Given the description of an element on the screen output the (x, y) to click on. 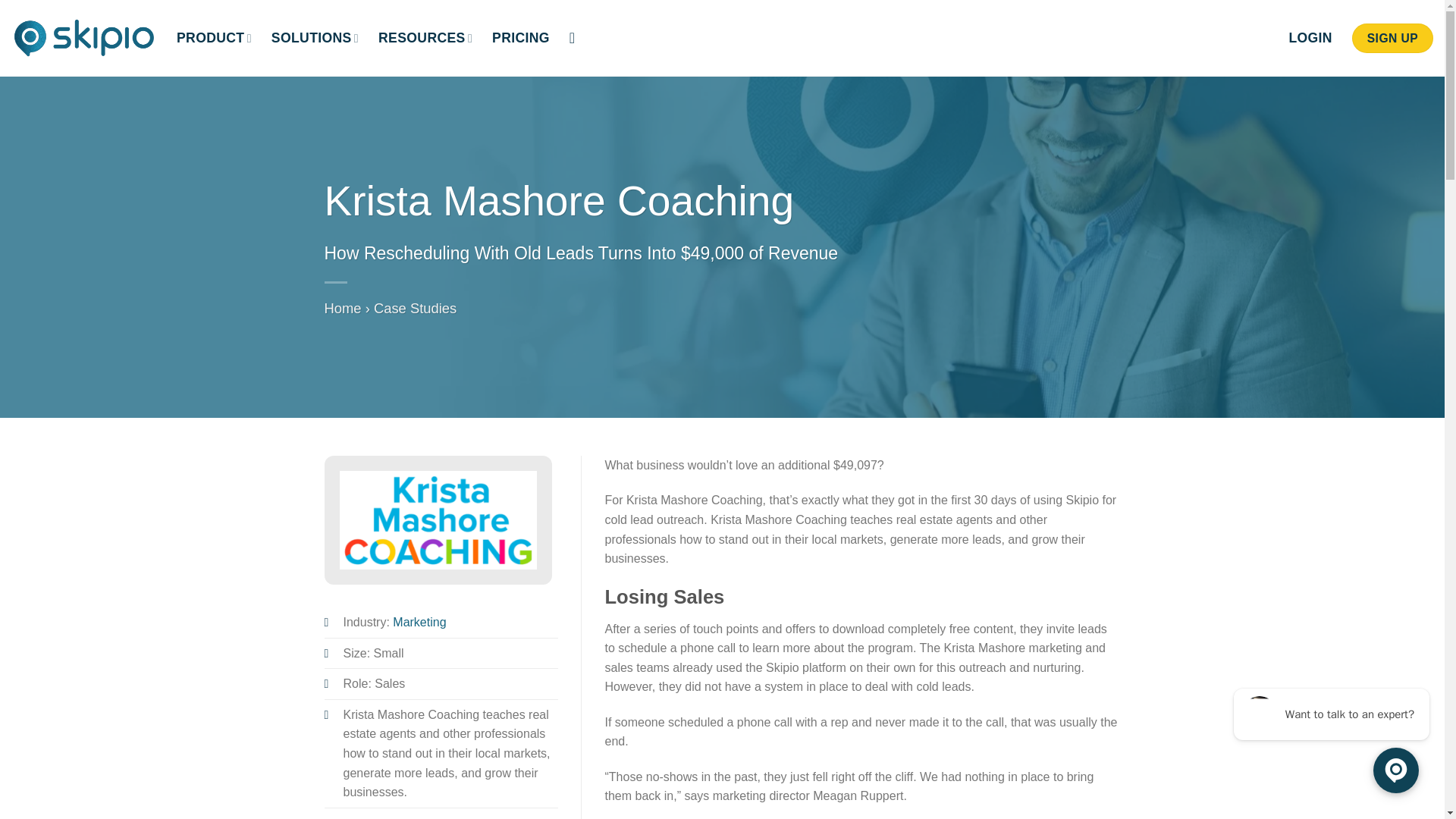
SOLUTIONS (314, 37)
PRODUCT (213, 37)
LOGIN (1310, 37)
PRICING (521, 37)
RESOURCES (424, 37)
Skipio (82, 38)
Home (342, 308)
Case Studies (415, 308)
SIGN UP (1392, 38)
